Given the description of an element on the screen output the (x, y) to click on. 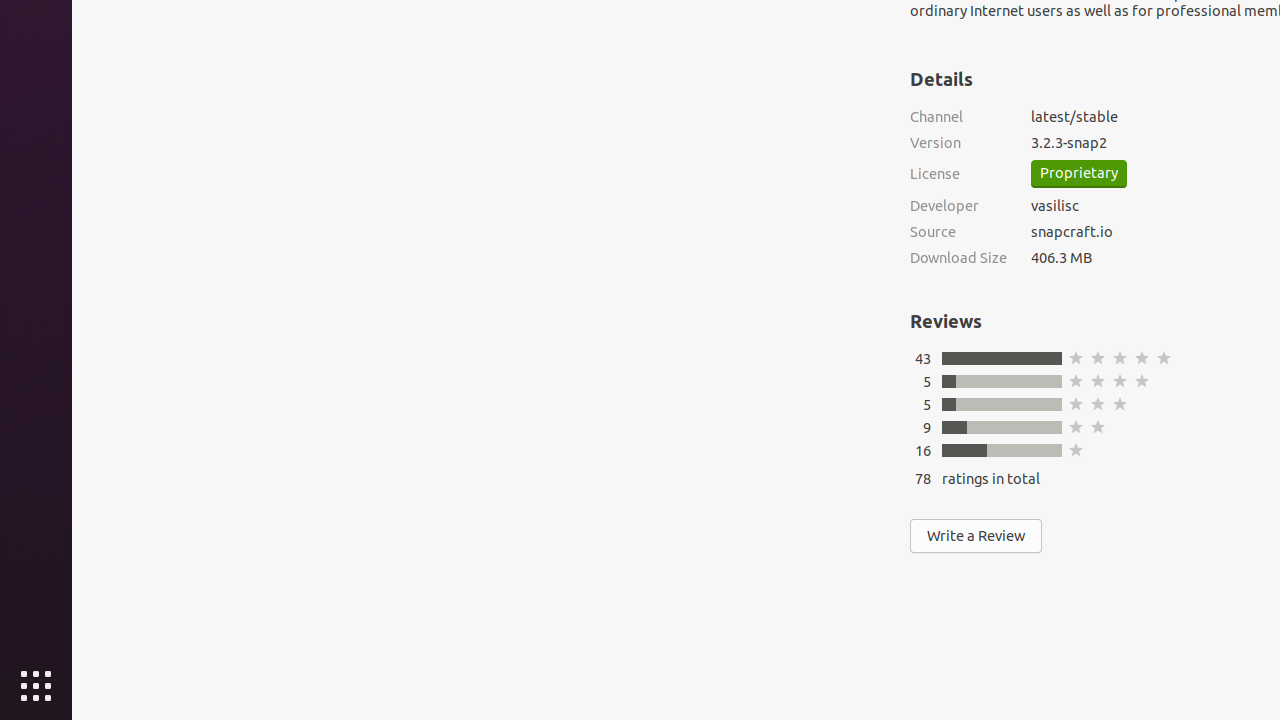
Write a Review Element type: push-button (976, 536)
Developer Element type: label (958, 205)
9 Element type: label (927, 427)
vasilisc Element type: label (1055, 205)
Download Size Element type: label (958, 257)
